Given the description of an element on the screen output the (x, y) to click on. 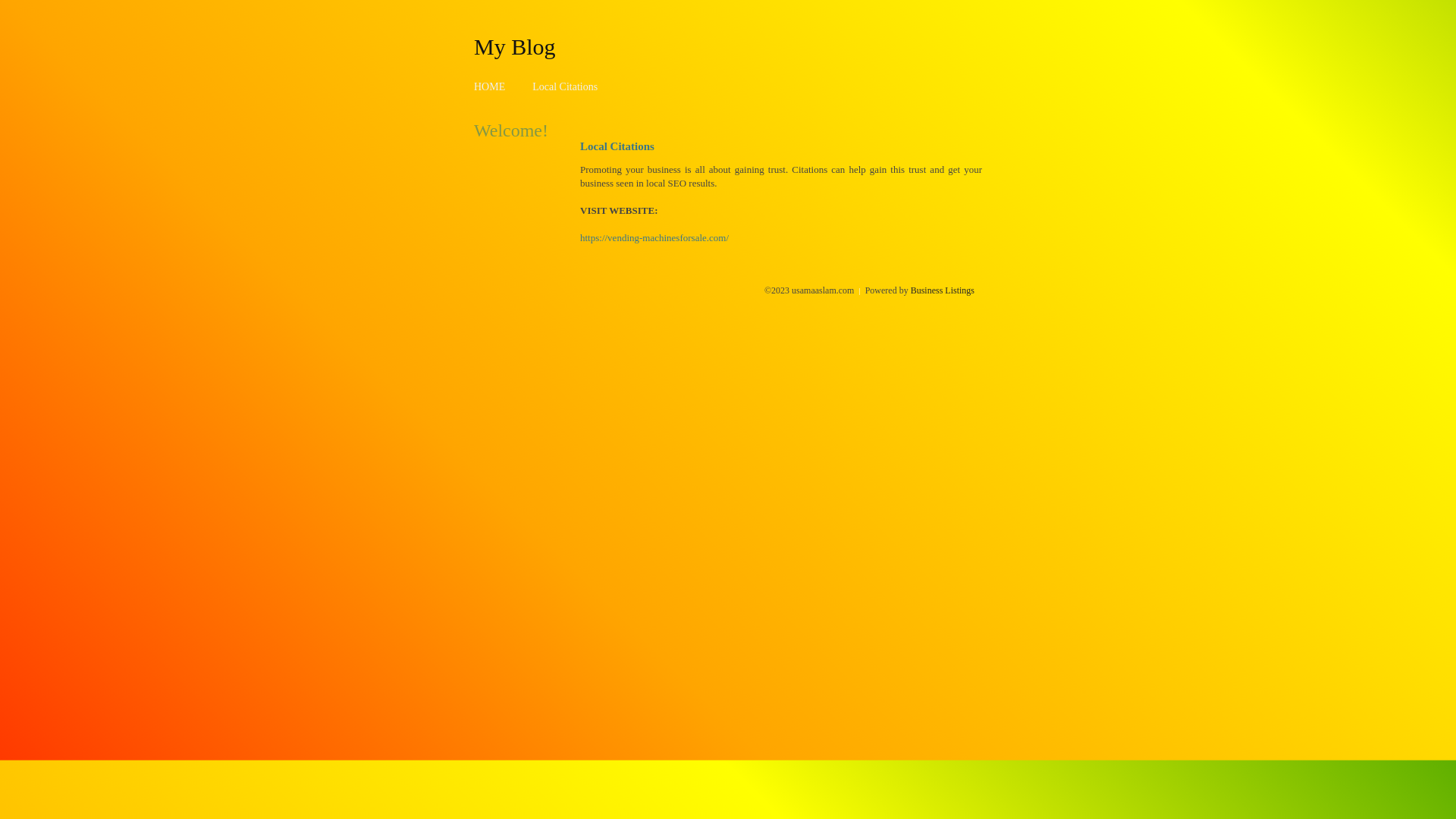
Local Citations Element type: text (564, 86)
Business Listings Element type: text (942, 290)
HOME Element type: text (489, 86)
https://vending-machinesforsale.com/ Element type: text (654, 237)
My Blog Element type: text (514, 46)
